Given the description of an element on the screen output the (x, y) to click on. 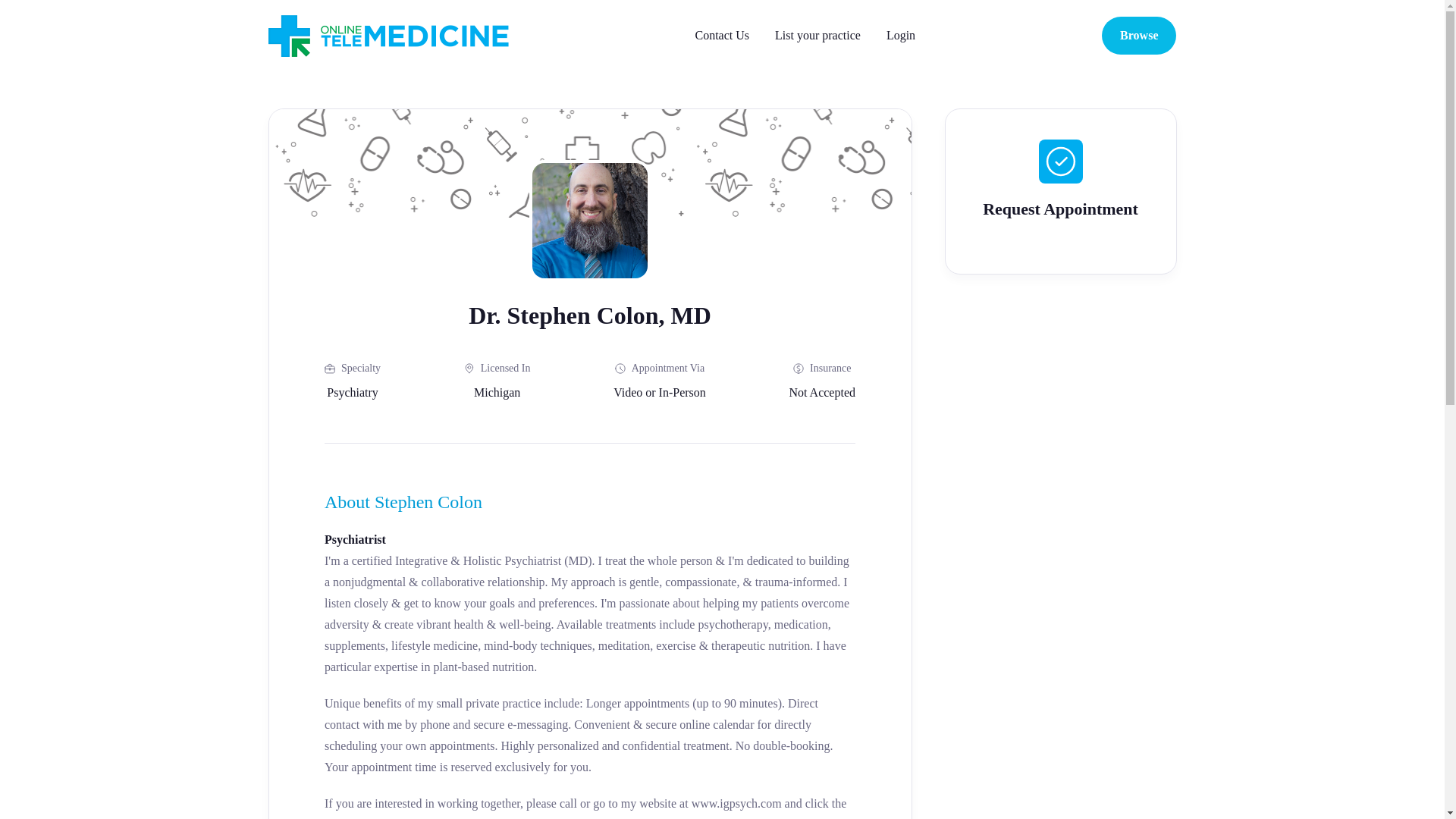
Contact Us (721, 35)
Login (900, 35)
List your practice (817, 35)
Browse (1139, 35)
